Given the description of an element on the screen output the (x, y) to click on. 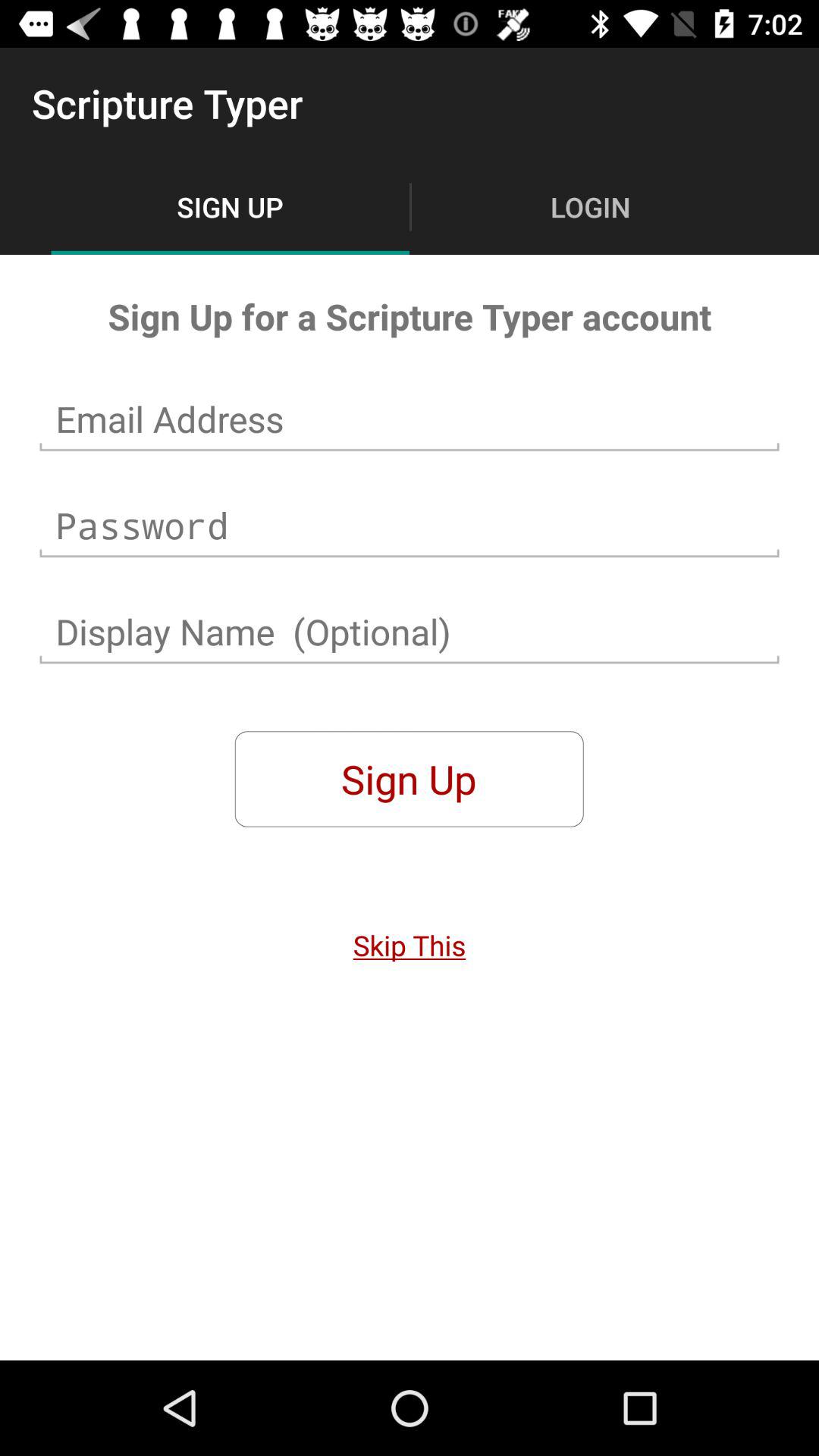
choose password (409, 525)
